Given the description of an element on the screen output the (x, y) to click on. 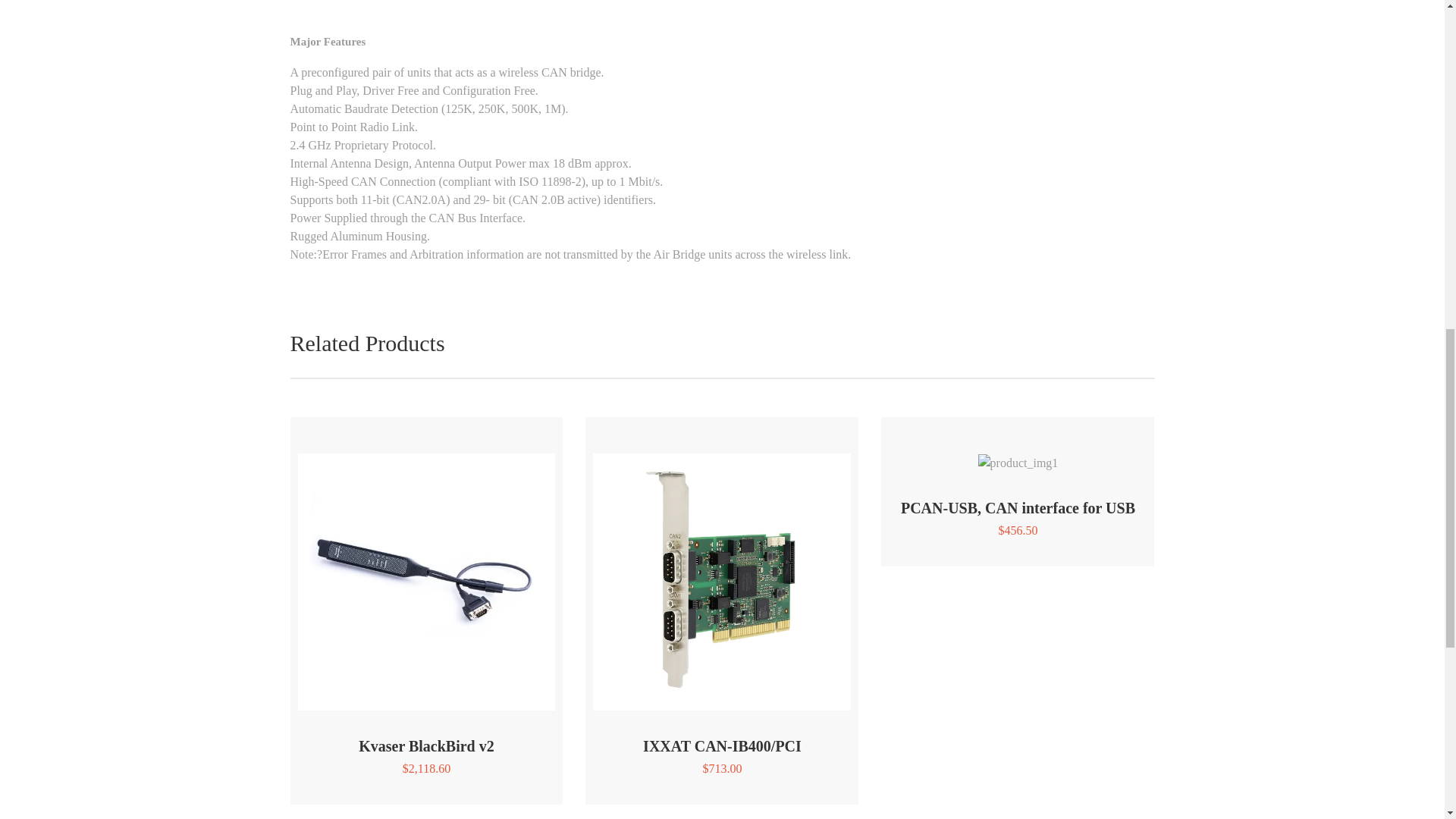
PCAN-USB, CAN interface for USB (1018, 507)
Kvaser BlackBird v2 (426, 745)
